Given the description of an element on the screen output the (x, y) to click on. 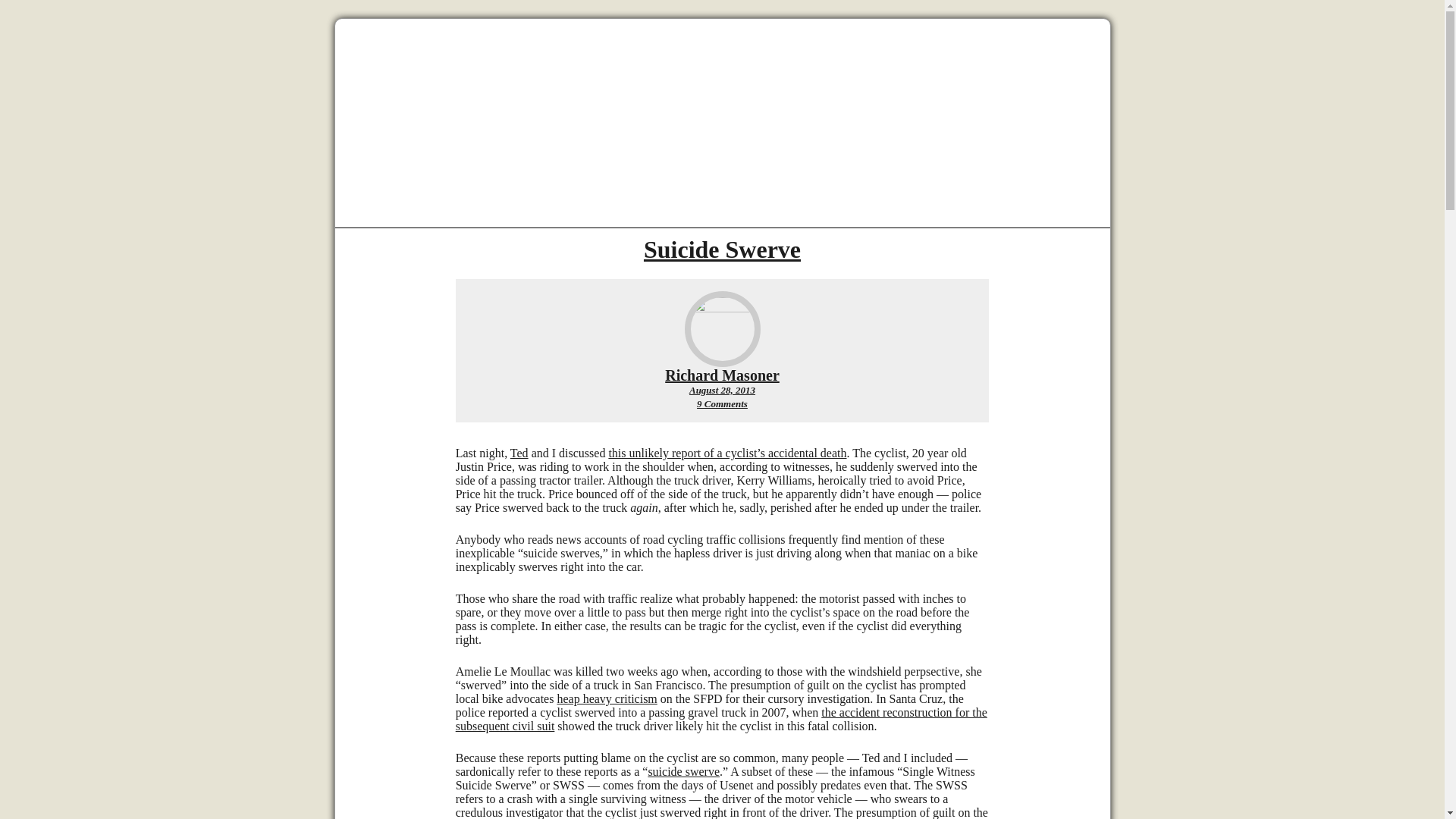
August 28, 2013 (721, 389)
the accident reconstruction for the subsequent civil suit (721, 718)
Ted (722, 403)
Suicide Swerve (519, 452)
Richard Masoner (721, 248)
View all posts by Richard Masoner (721, 375)
Skip to content (721, 375)
Suicide Swerves on Cyclelicious (606, 698)
